Given the description of an element on the screen output the (x, y) to click on. 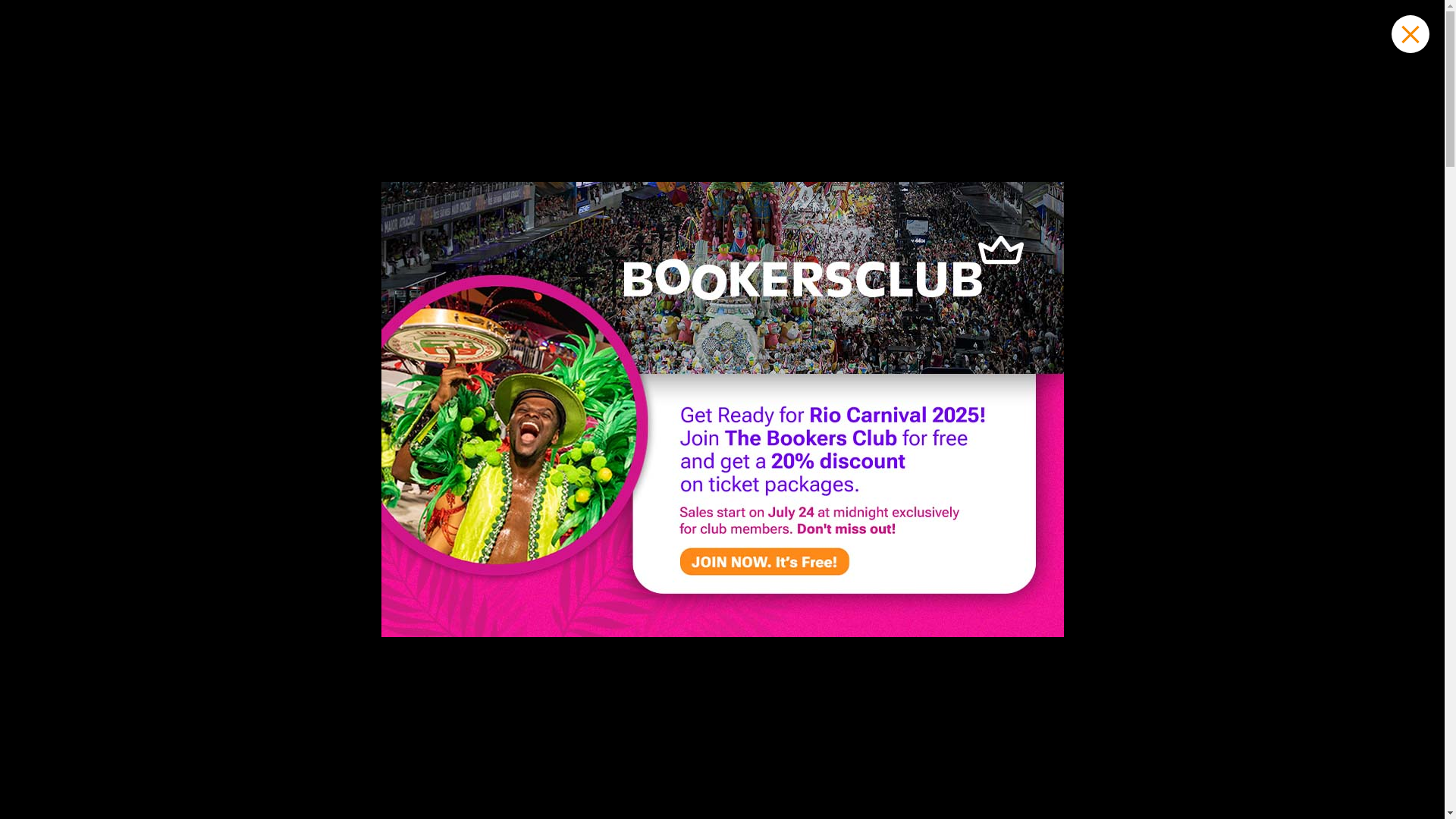
Fazer Login (1346, 16)
Efetue Cadastro em Nosso Site (1401, 16)
Criar Conta (1401, 16)
Efetue Login (1346, 16)
TICKETS TYPES (806, 68)
CARNIVAL IN RIO (681, 68)
PARADE TICKETS (479, 68)
CONTACT (1071, 68)
CARNIVAL BEYOND RIO (946, 68)
BALLS (581, 68)
